Given the description of an element on the screen output the (x, y) to click on. 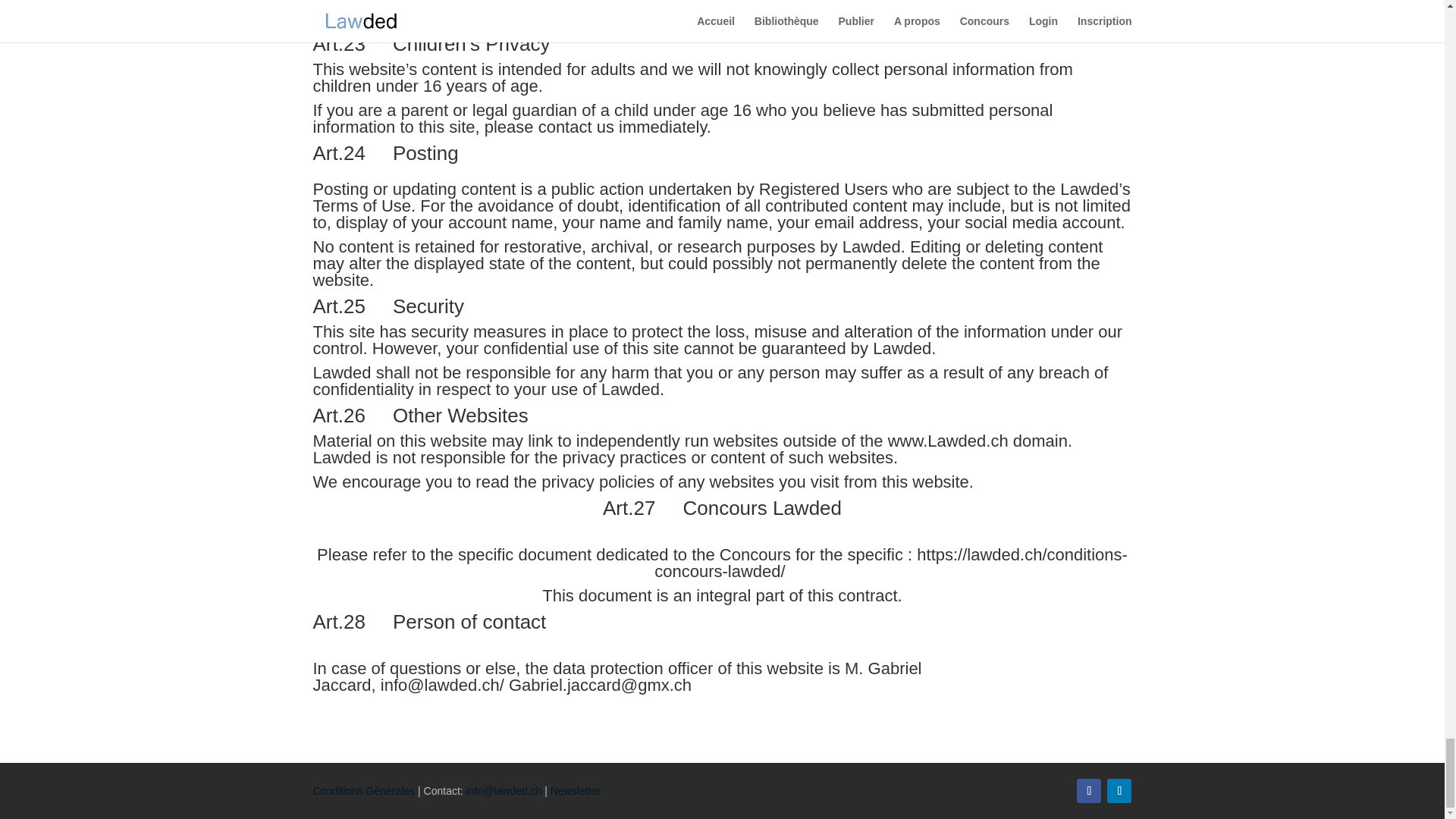
Follow on LinkedIn (1118, 790)
Newsletter (574, 790)
Follow on Facebook (1088, 790)
